Given the description of an element on the screen output the (x, y) to click on. 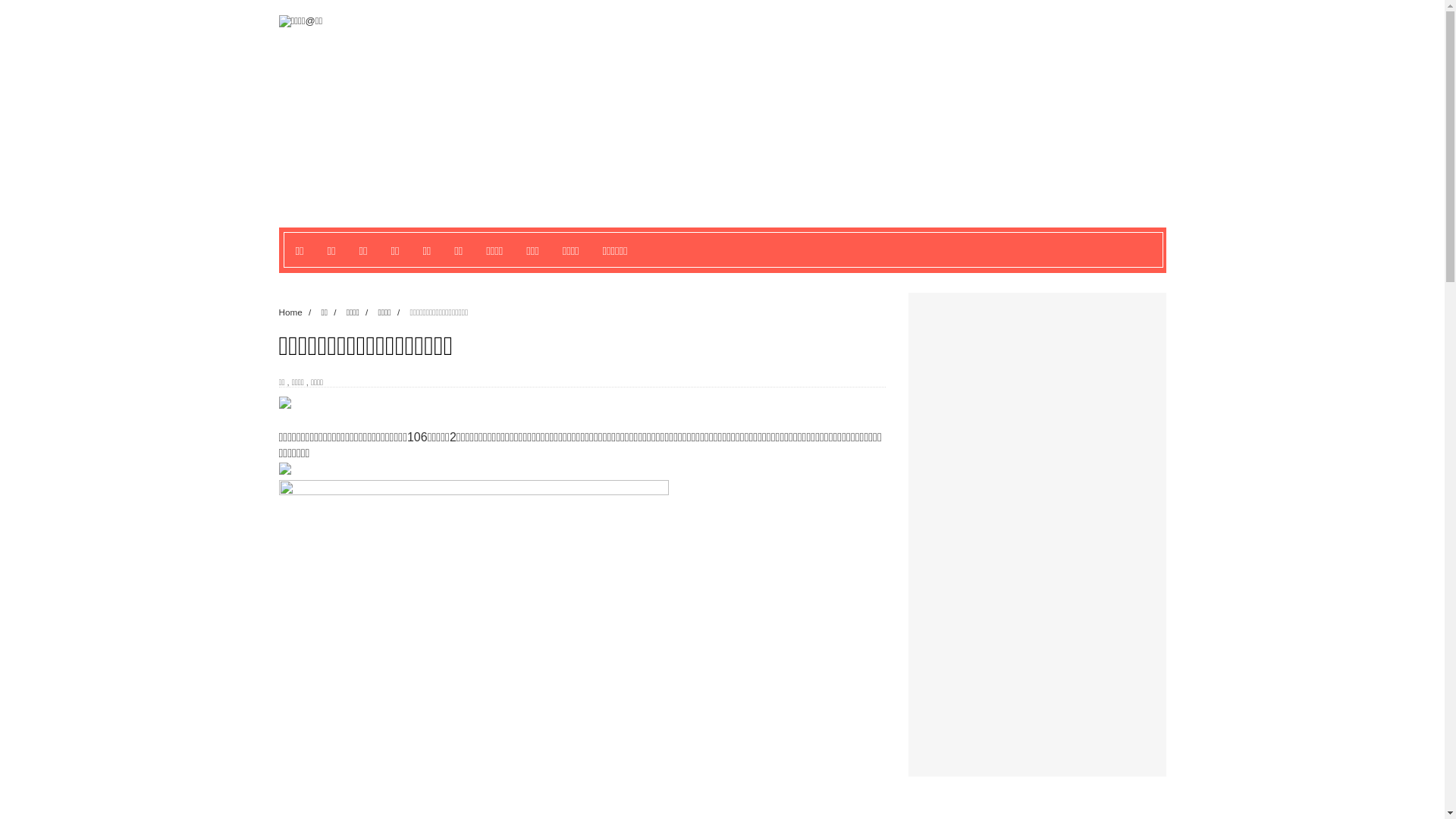
Advertisement Element type: hover (798, 121)
Advertisement Element type: hover (1029, 527)
Home Element type: text (291, 311)
